Given the description of an element on the screen output the (x, y) to click on. 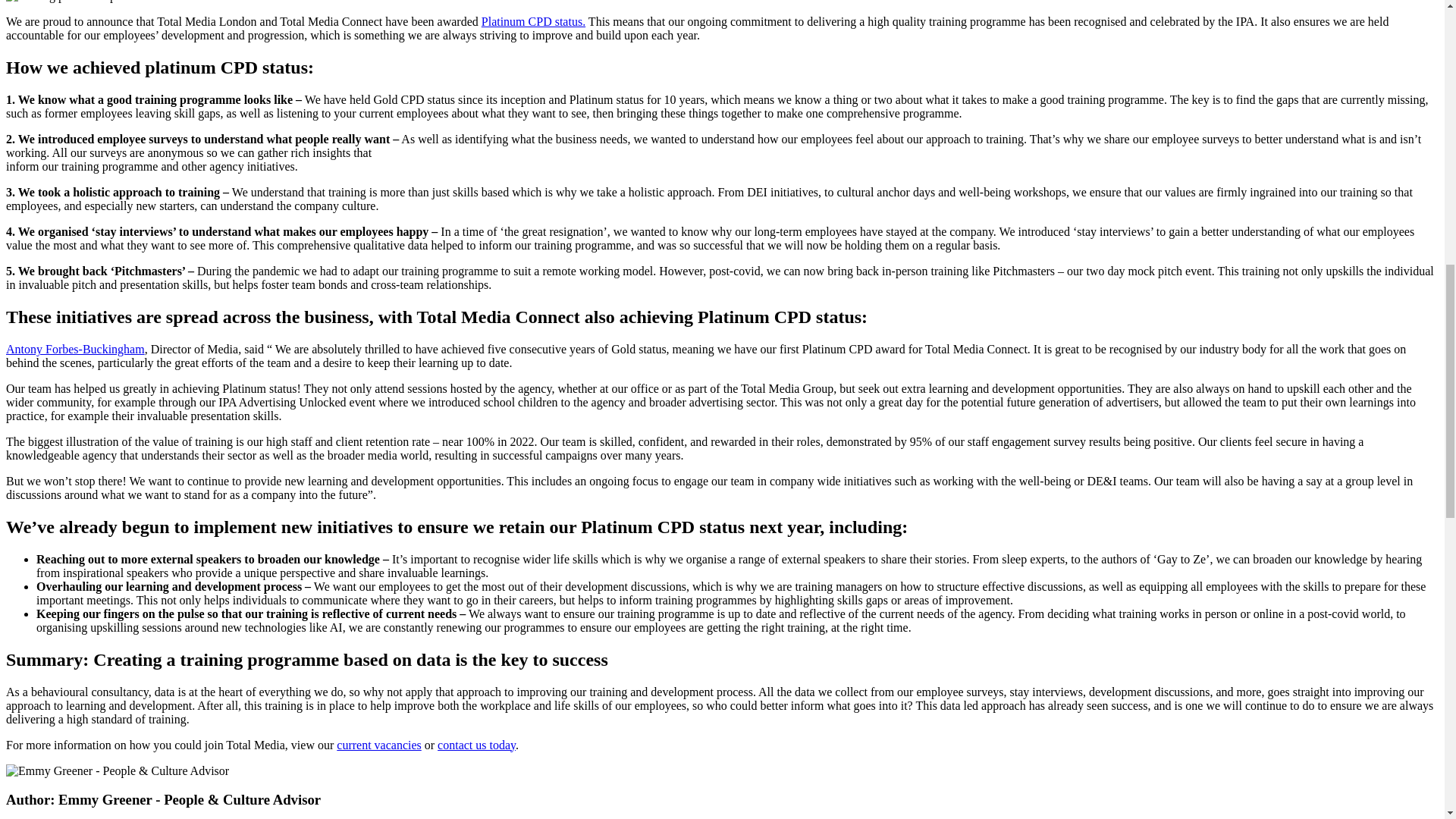
Platinum CPD status. (533, 21)
contact us today (476, 744)
Antony Forbes-Buckingham (74, 349)
current vacancies (378, 744)
